Given the description of an element on the screen output the (x, y) to click on. 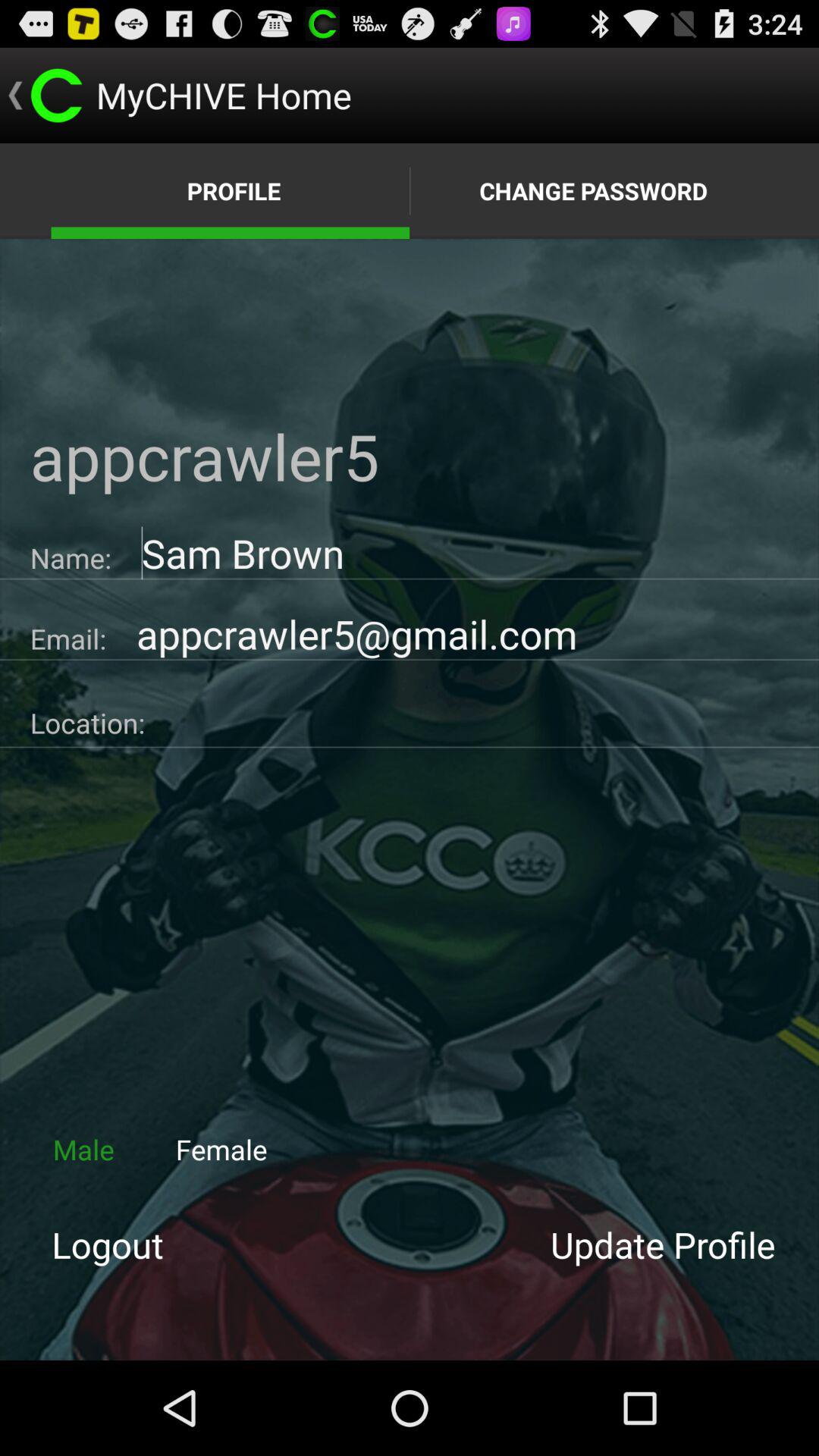
fill out location (482, 717)
